Given the description of an element on the screen output the (x, y) to click on. 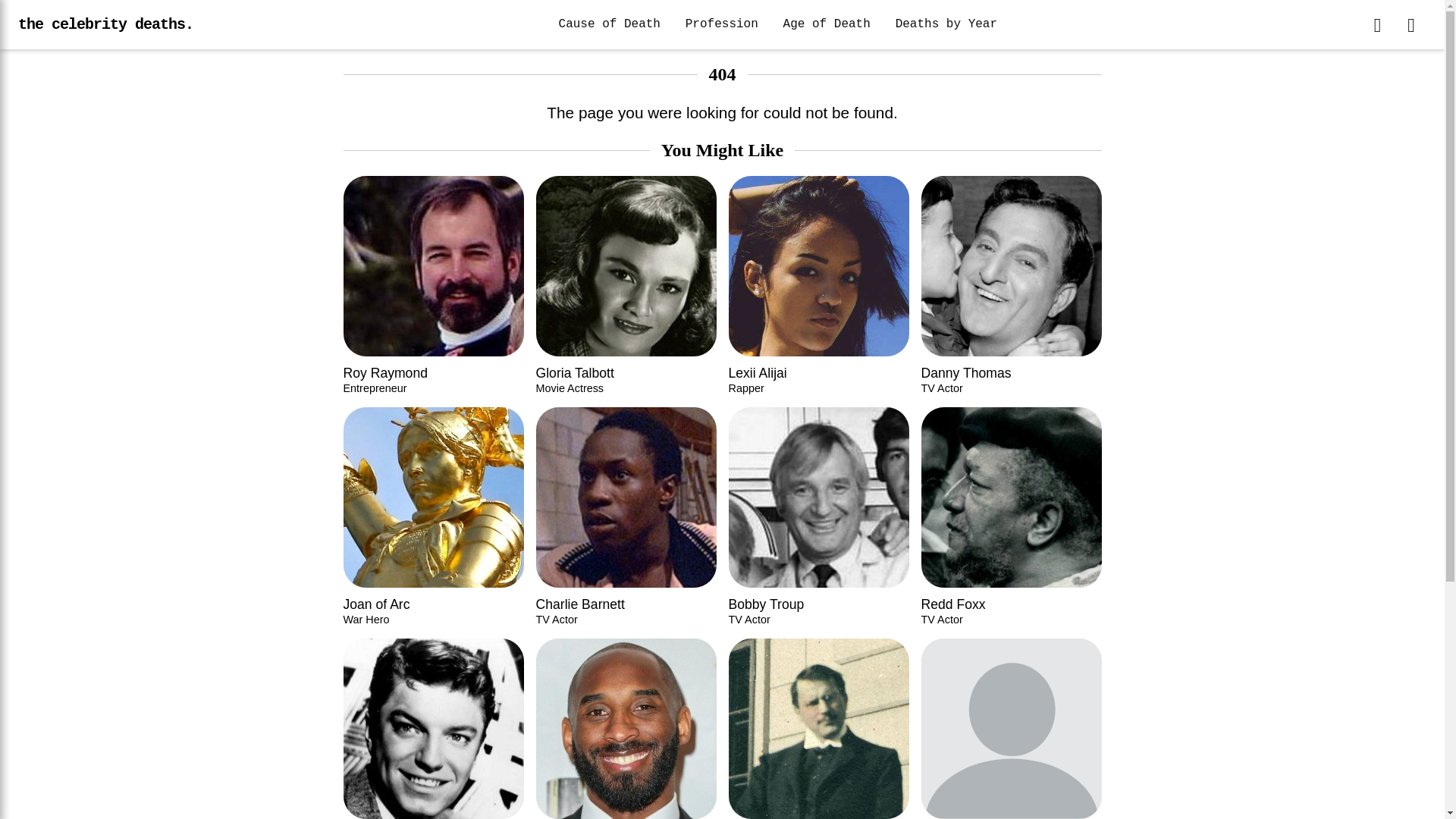
Guy Mitchell (432, 728)
Kobe Bryant (625, 728)
Age of Death (625, 728)
the celebrity deaths. (826, 24)
Chris Ridgway (105, 24)
Carl Jung (818, 728)
